Given the description of an element on the screen output the (x, y) to click on. 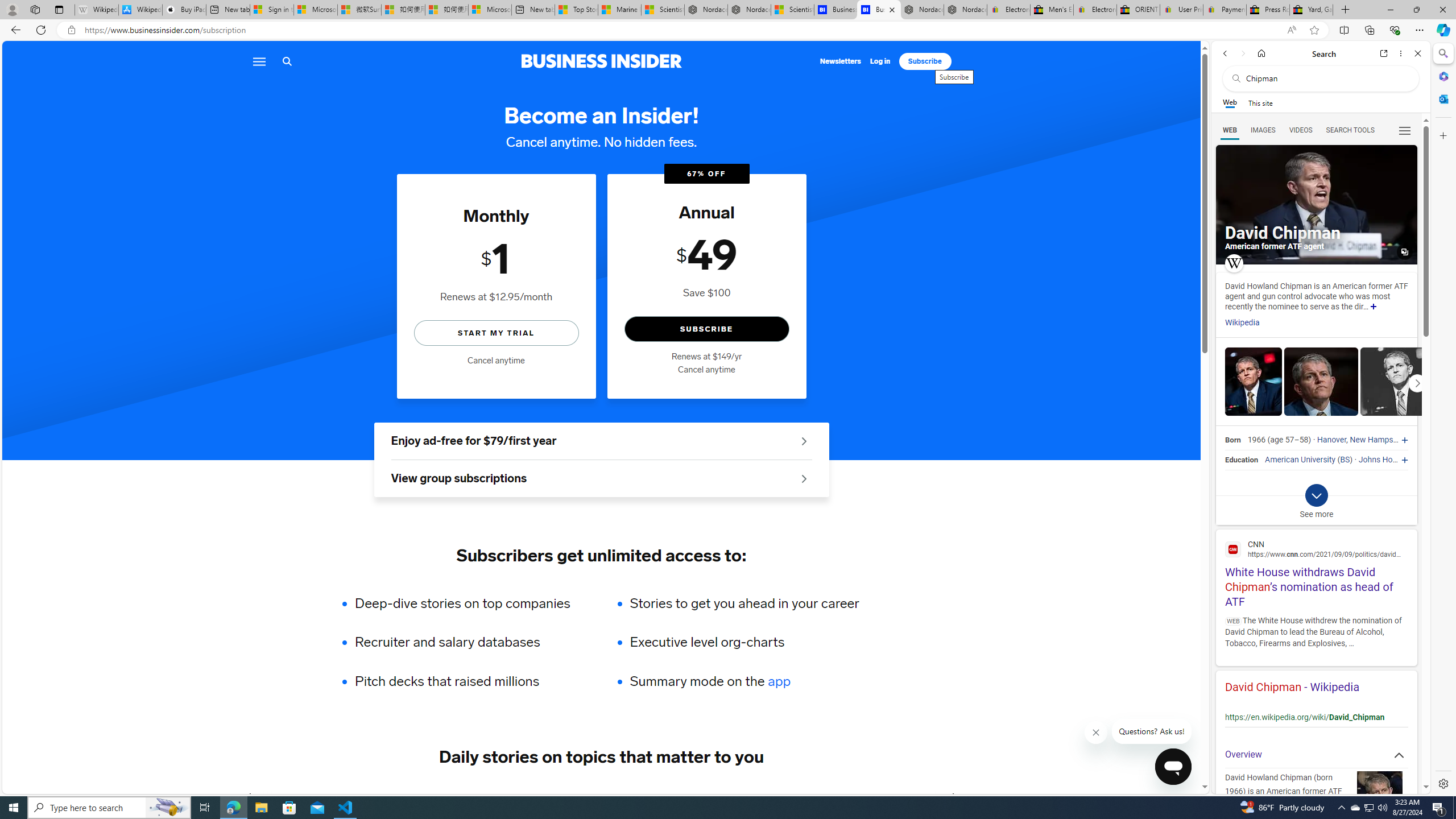
Enjoy ad-free for $79/first year (601, 441)
Education (1240, 459)
See group offers (803, 478)
Open messaging window (1172, 766)
BS (1344, 460)
Class: sc-1k07fow-1 cbnSms (1173, 766)
